Given the description of an element on the screen output the (x, y) to click on. 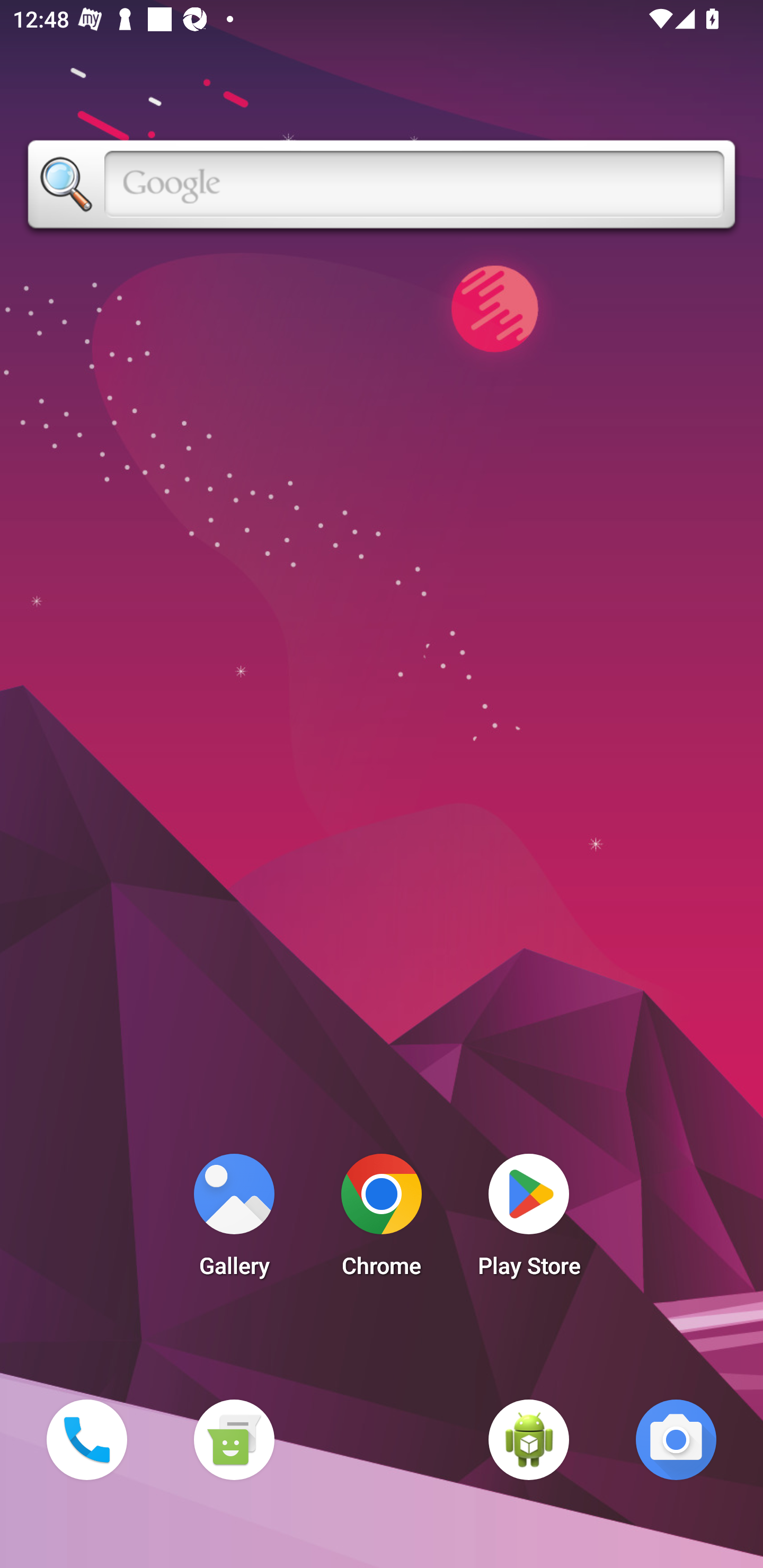
Gallery (233, 1220)
Chrome (381, 1220)
Play Store (528, 1220)
Phone (86, 1439)
Messaging (233, 1439)
WebView Browser Tester (528, 1439)
Camera (676, 1439)
